Given the description of an element on the screen output the (x, y) to click on. 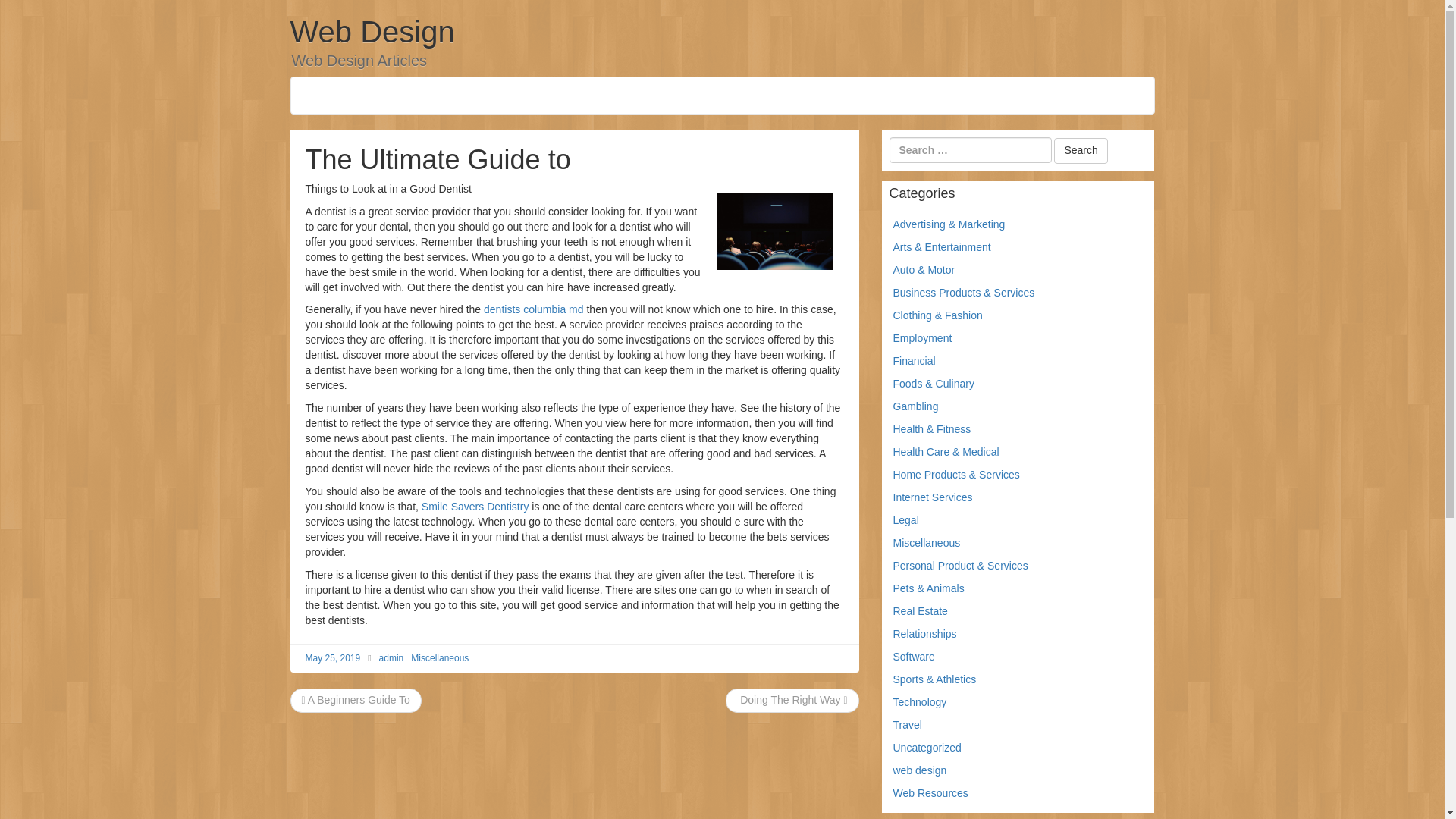
Search (1080, 150)
 Doing The Right Way  (791, 699)
Web Resources (930, 793)
Technology (920, 702)
Search (1080, 150)
Gambling (916, 406)
Relationships (924, 633)
dentists columbia md (533, 309)
Legal (905, 520)
Real Estate (920, 611)
Miscellaneous (439, 657)
Web Design (371, 31)
Software (913, 656)
 A Beginners Guide To (355, 699)
Search for: (969, 149)
